Given the description of an element on the screen output the (x, y) to click on. 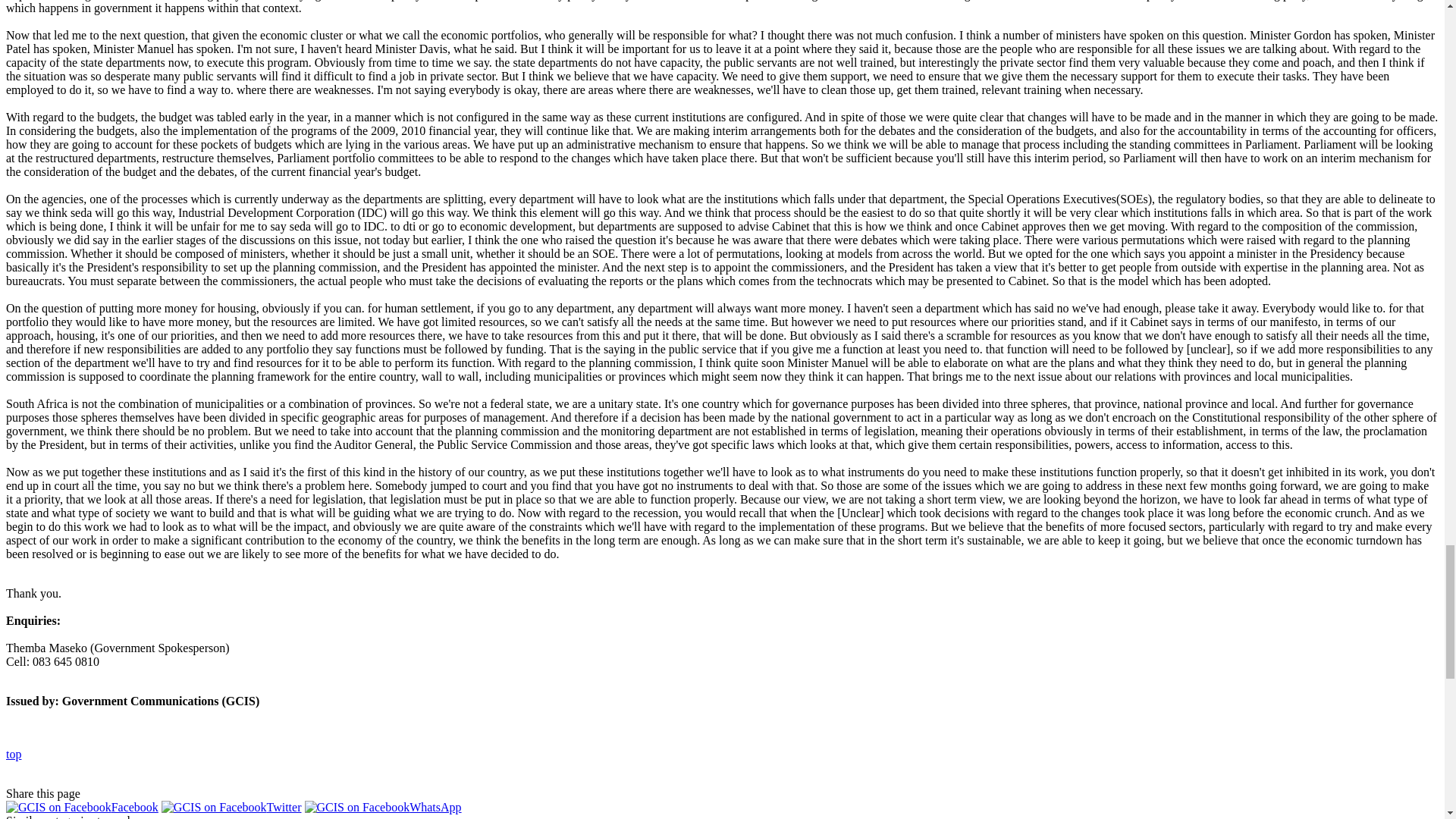
WhatsApp (382, 807)
Facebook (81, 807)
Share on Twitter (231, 807)
top (13, 753)
Share on Facebook (81, 807)
Twitter (231, 807)
